Given the description of an element on the screen output the (x, y) to click on. 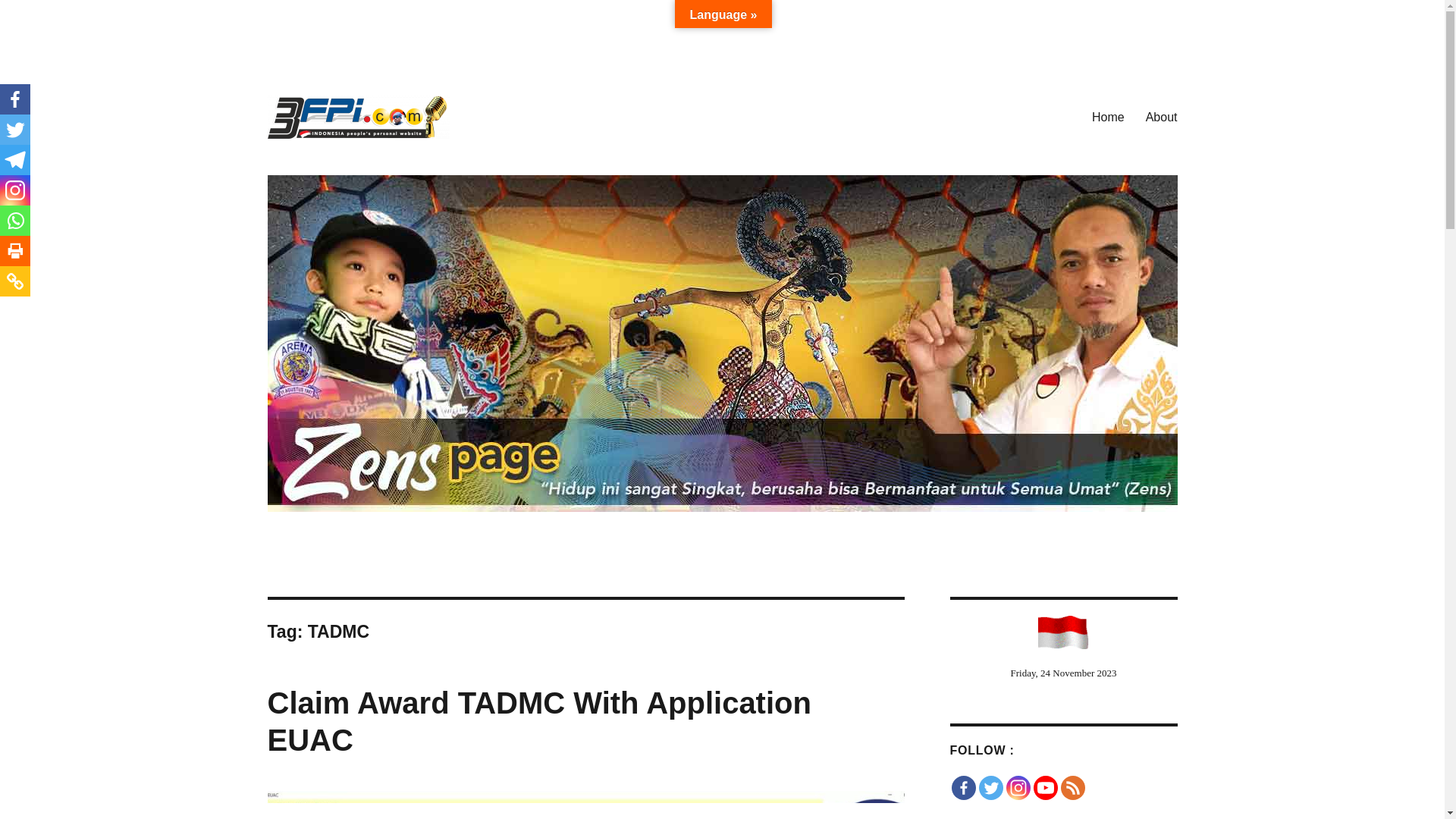
Home Element type: text (1108, 116)
Youtubechannel Element type: hover (1044, 787)
About Element type: text (1161, 116)
Claim Award TADMC With Application EUAC Element type: text (538, 721)
Instagram Element type: hover (1017, 787)
Telegram Element type: hover (15, 159)
Twitter Element type: hover (990, 787)
Rssfeed Element type: hover (1072, 787)
Twitter Element type: hover (15, 129)
Copy Link Element type: hover (15, 281)
Facebook Element type: hover (15, 99)
Instagram Element type: hover (15, 190)
Print Element type: hover (15, 250)
Facebook Element type: hover (962, 787)
Whatsapp Element type: hover (15, 220)
